Given the description of an element on the screen output the (x, y) to click on. 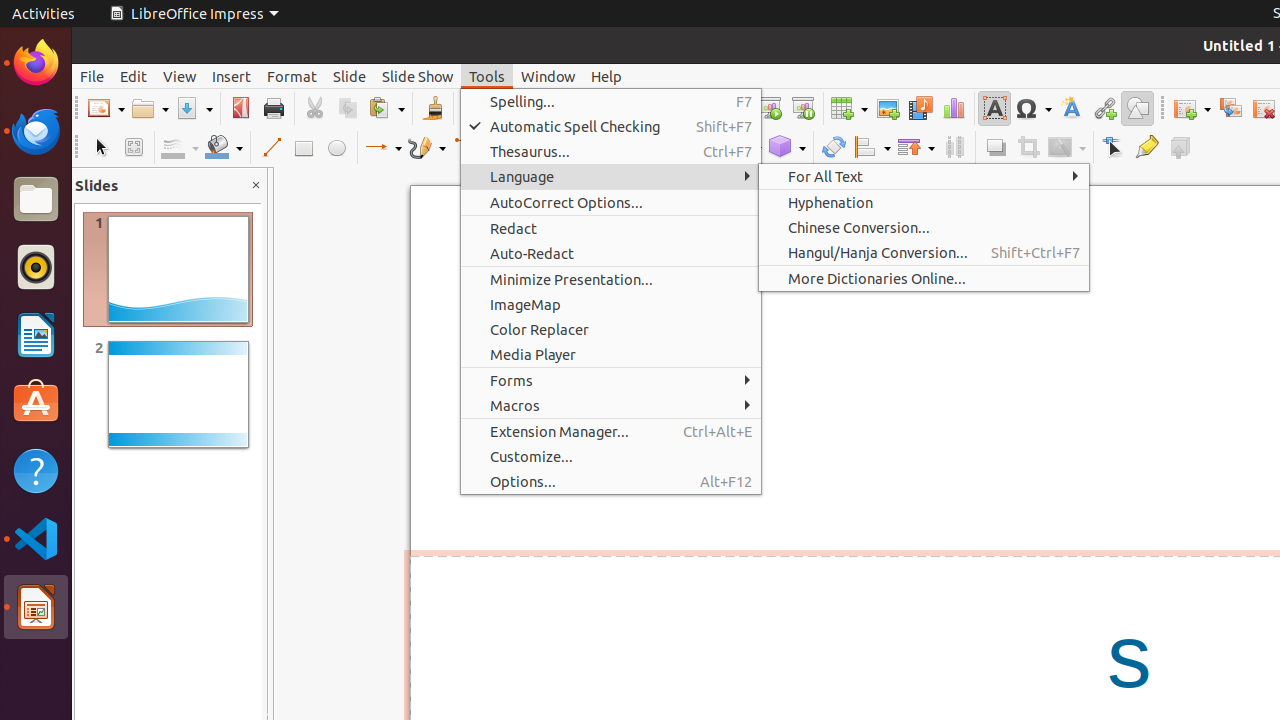
View Element type: menu (179, 76)
Slide Element type: menu (349, 76)
Format Element type: menu (292, 76)
Forms Element type: menu (611, 380)
Rectangle Element type: push-button (303, 147)
